Given the description of an element on the screen output the (x, y) to click on. 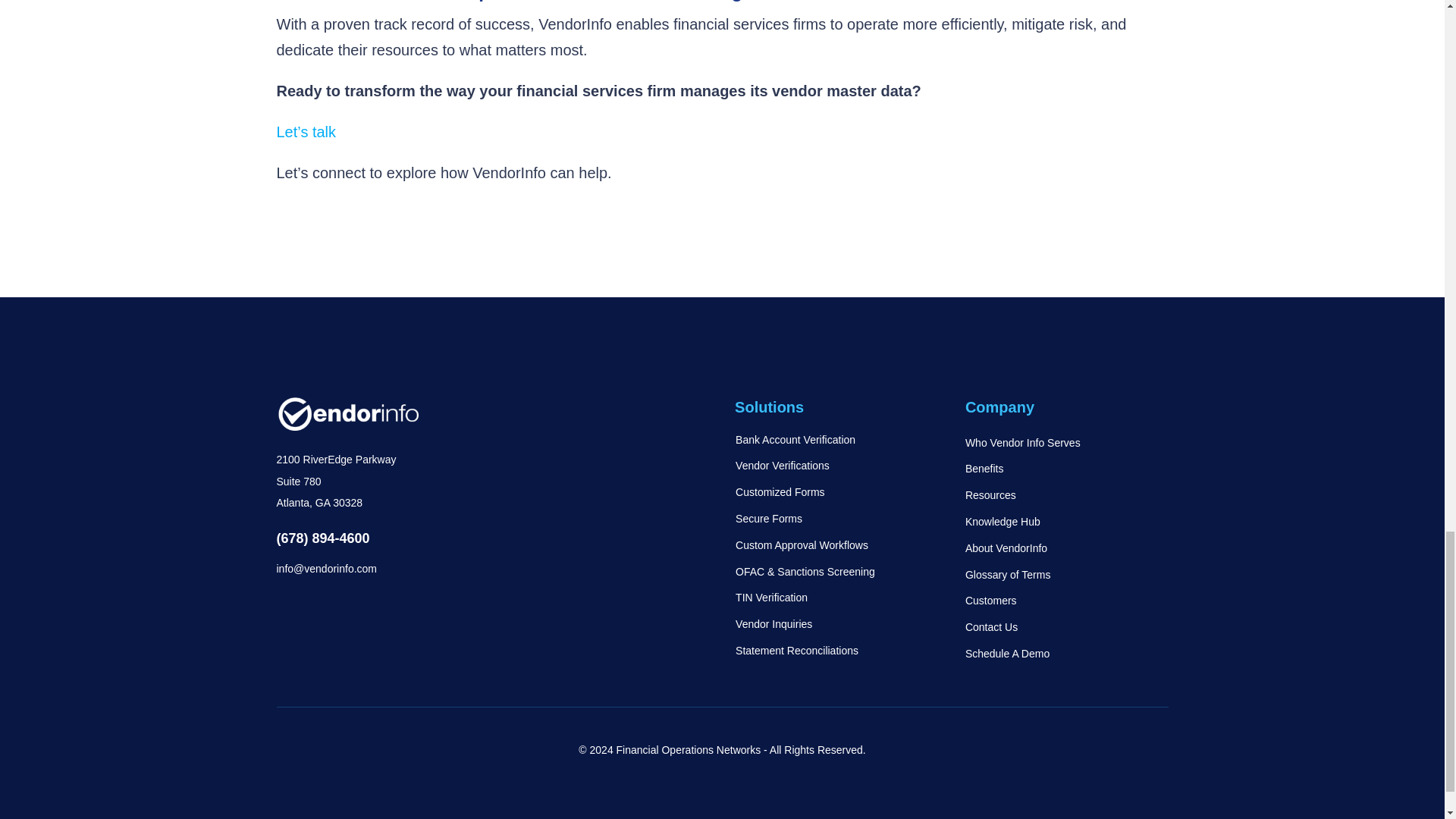
VendorInfo-white (346, 413)
